Given the description of an element on the screen output the (x, y) to click on. 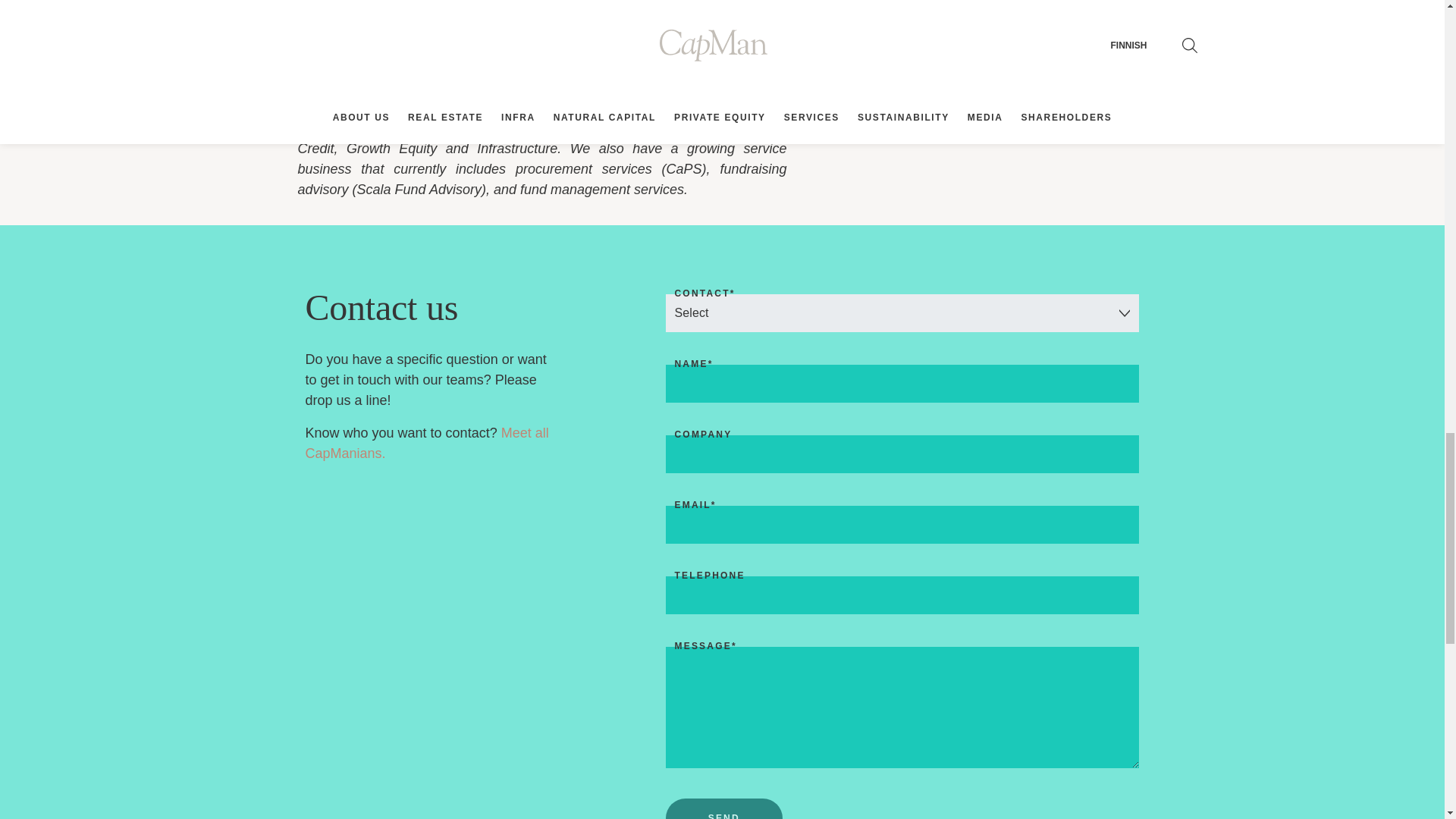
Send (724, 808)
